Given the description of an element on the screen output the (x, y) to click on. 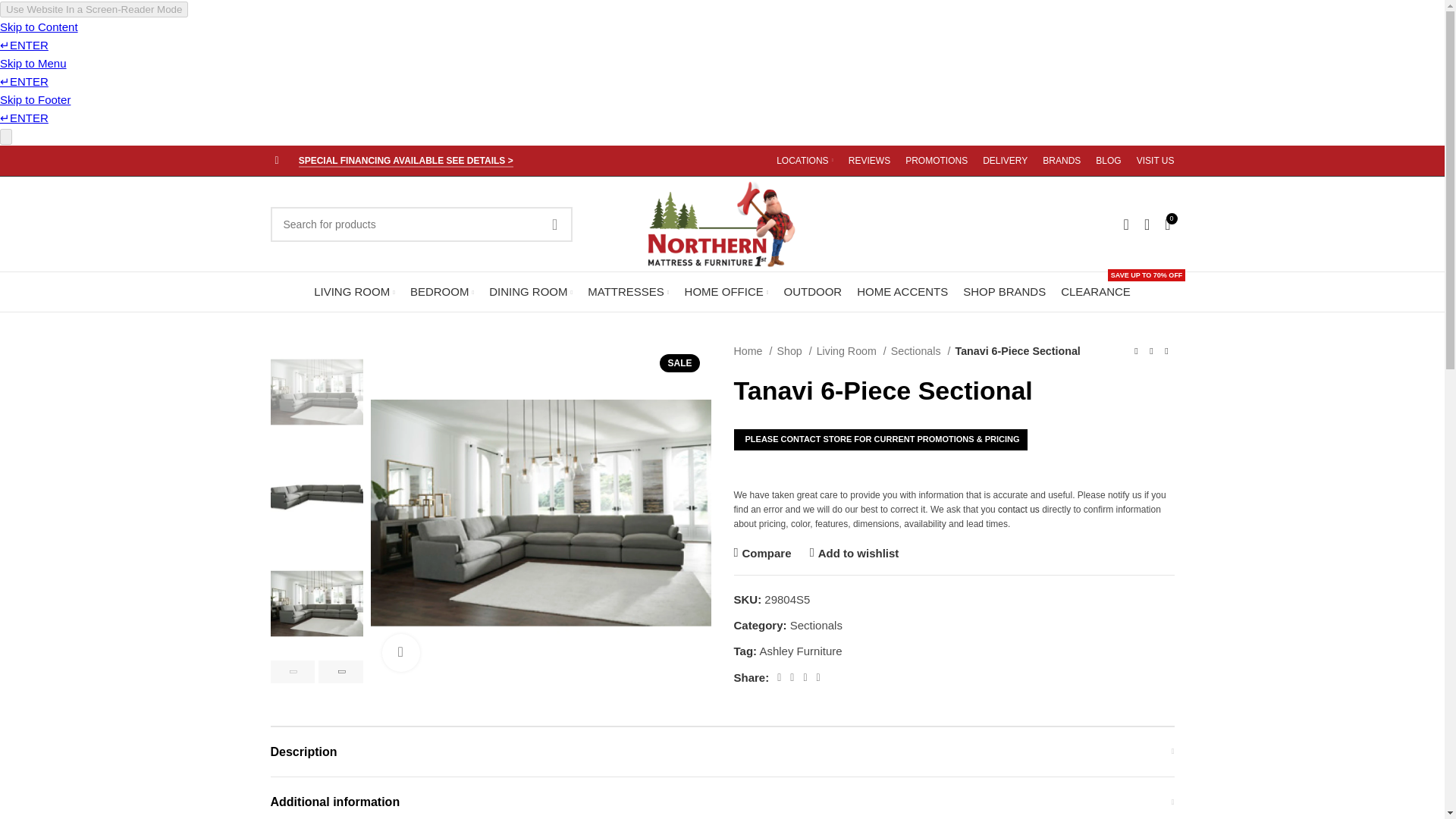
DELIVERY (1004, 160)
LOCATIONS (804, 160)
REVIEWS (868, 160)
LIVING ROOM (354, 291)
SEARCH (554, 223)
Tanavi 6-Piece Sectional Sectionals Ashley Furniture 10 (1235, 513)
Tanavi 6-Piece Sectional Sectionals Ashley Furniture 6 (721, 223)
Tanavi 6-Piece Sectional Sectionals Ashley Furniture 8 (539, 513)
Search for products (420, 223)
PROMOTIONS (936, 160)
VISIT US (1155, 160)
BRANDS (1061, 160)
Tanavi 6-Piece Sectional Sectionals Ashley Furniture 9 (889, 513)
